Given the description of an element on the screen output the (x, y) to click on. 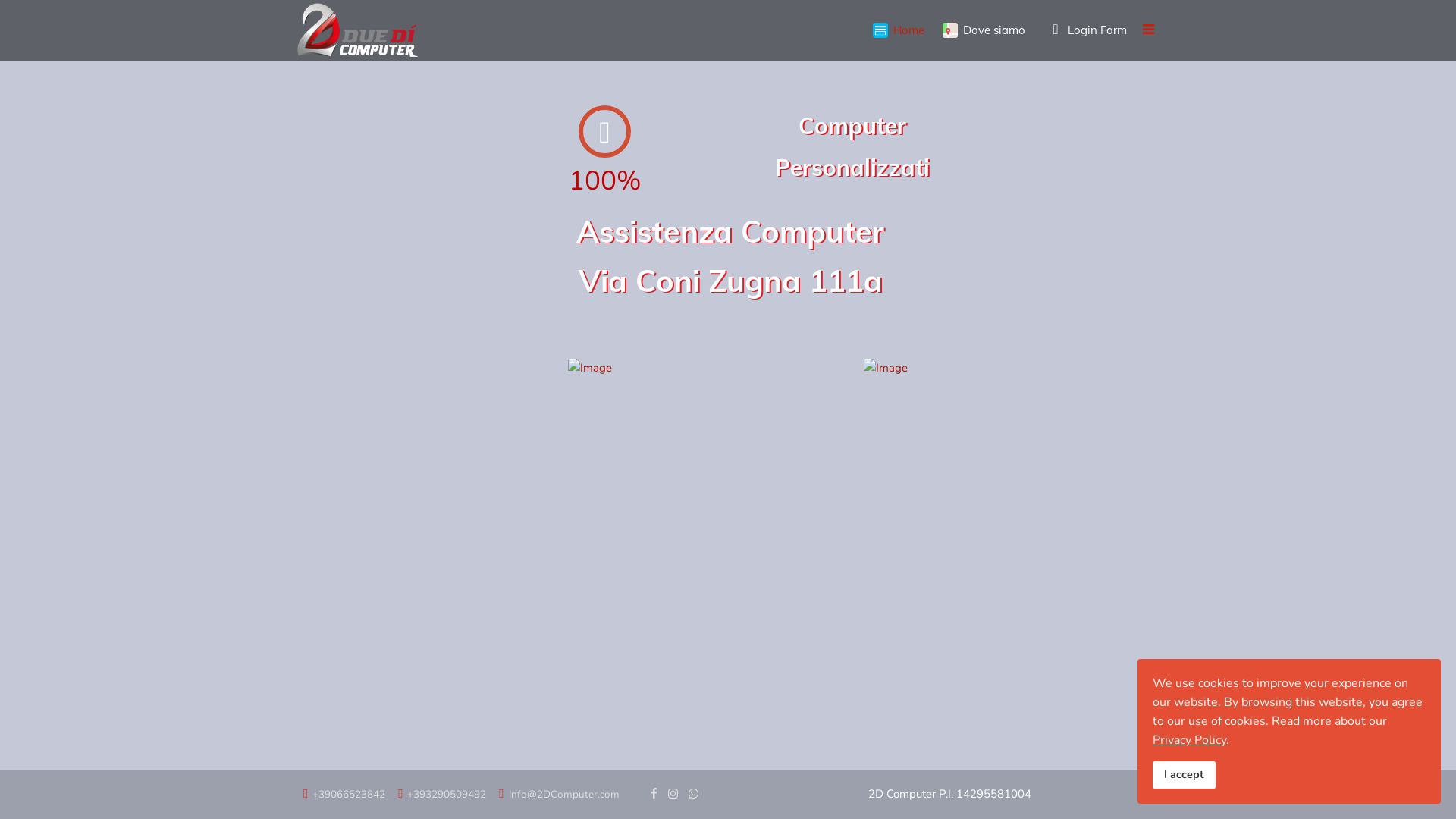
Login Form Element type: text (1084, 30)
+39066523842 Element type: text (348, 794)
I accept Element type: text (1183, 774)
Home Element type: text (898, 30)
Dove siamo Element type: text (983, 30)
+393290509492 Element type: text (446, 794)
Menu Element type: hover (1147, 29)
Privacy Policy Element type: text (1189, 739)
Info@2DComputer.com Element type: text (563, 794)
